Given the description of an element on the screen output the (x, y) to click on. 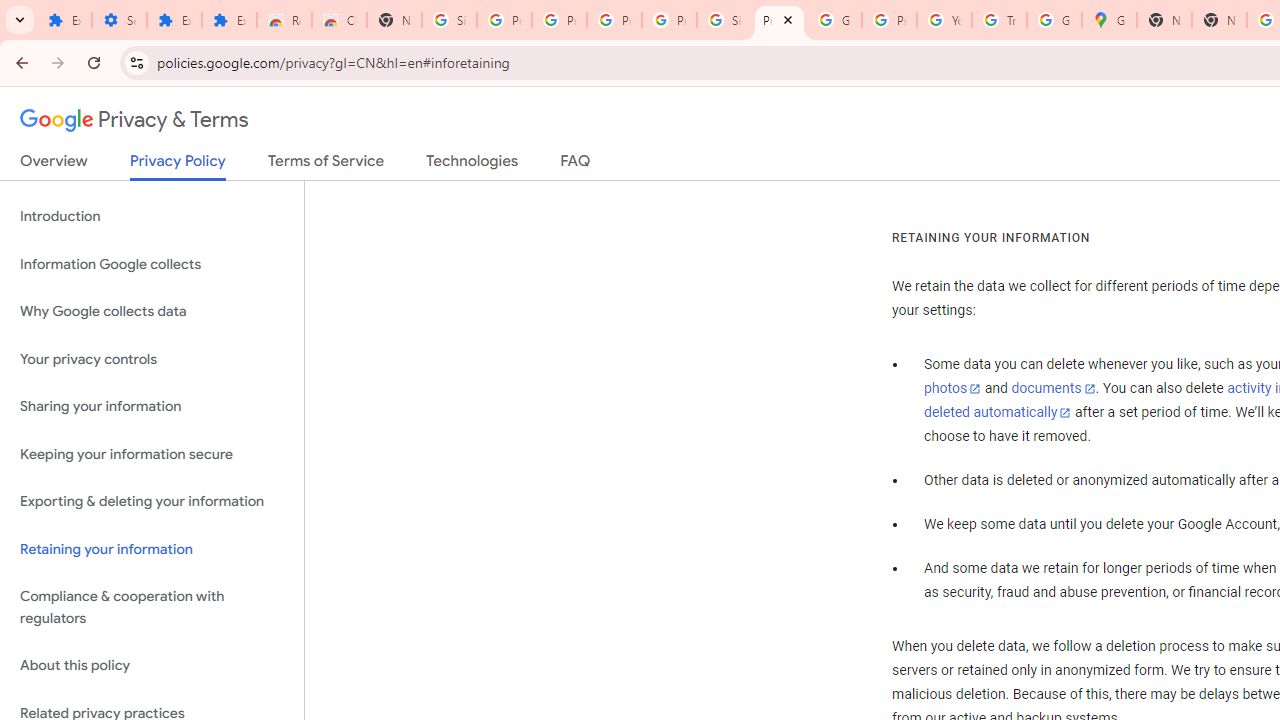
New Tab (1218, 20)
Settings (119, 20)
Reviews: Helix Fruit Jump Arcade Game (284, 20)
Information Google collects (152, 263)
Sharing your information (152, 407)
Your privacy controls (152, 358)
